Given the description of an element on the screen output the (x, y) to click on. 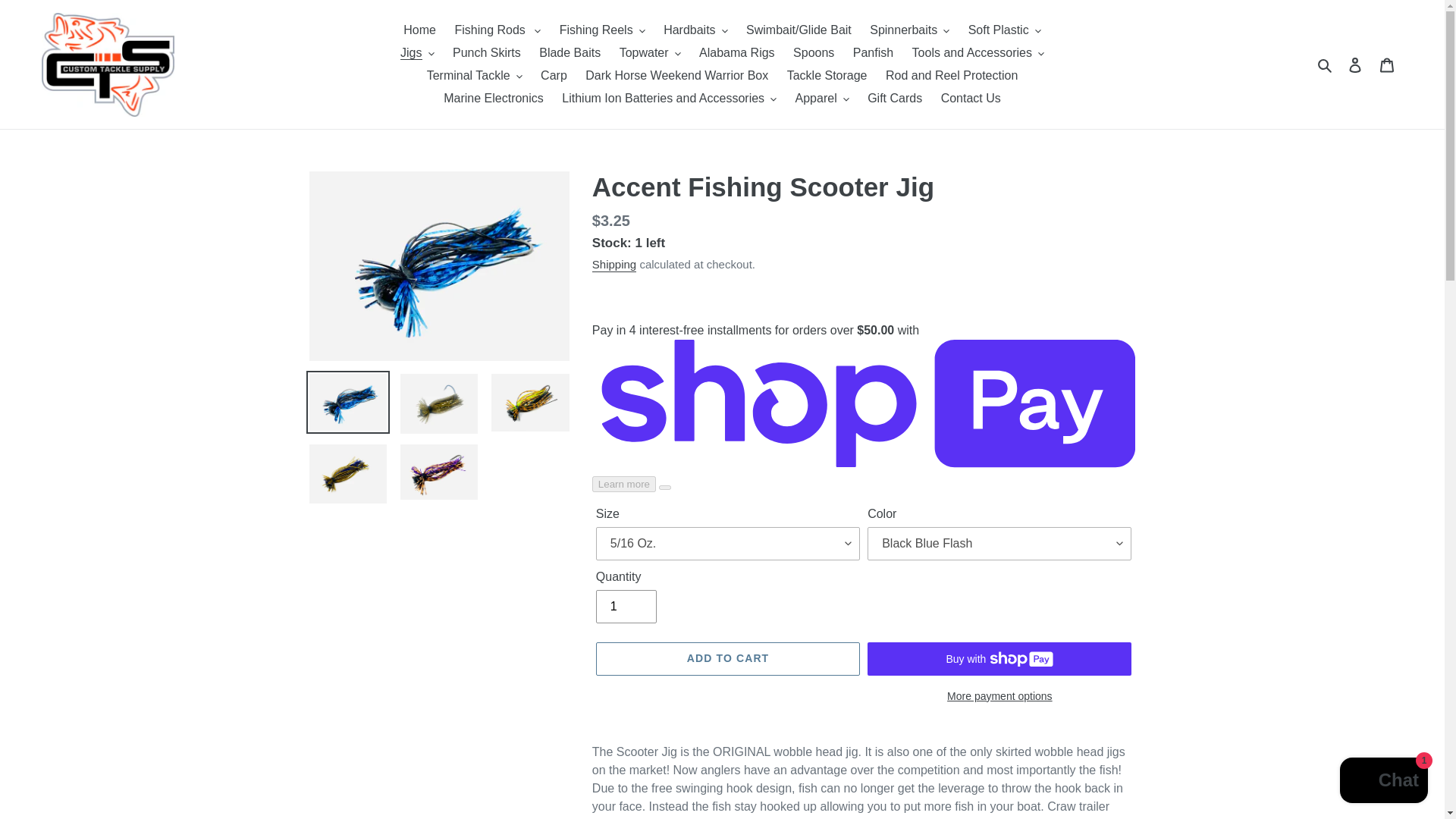
Jigs (417, 52)
Spinnerbaits (908, 29)
Shopify online store chat (1383, 781)
Fishing Rods (497, 29)
Home (420, 29)
Soft Plastic (1004, 29)
Hardbaits (695, 29)
Fishing Reels (601, 29)
1 (625, 606)
